Given the description of an element on the screen output the (x, y) to click on. 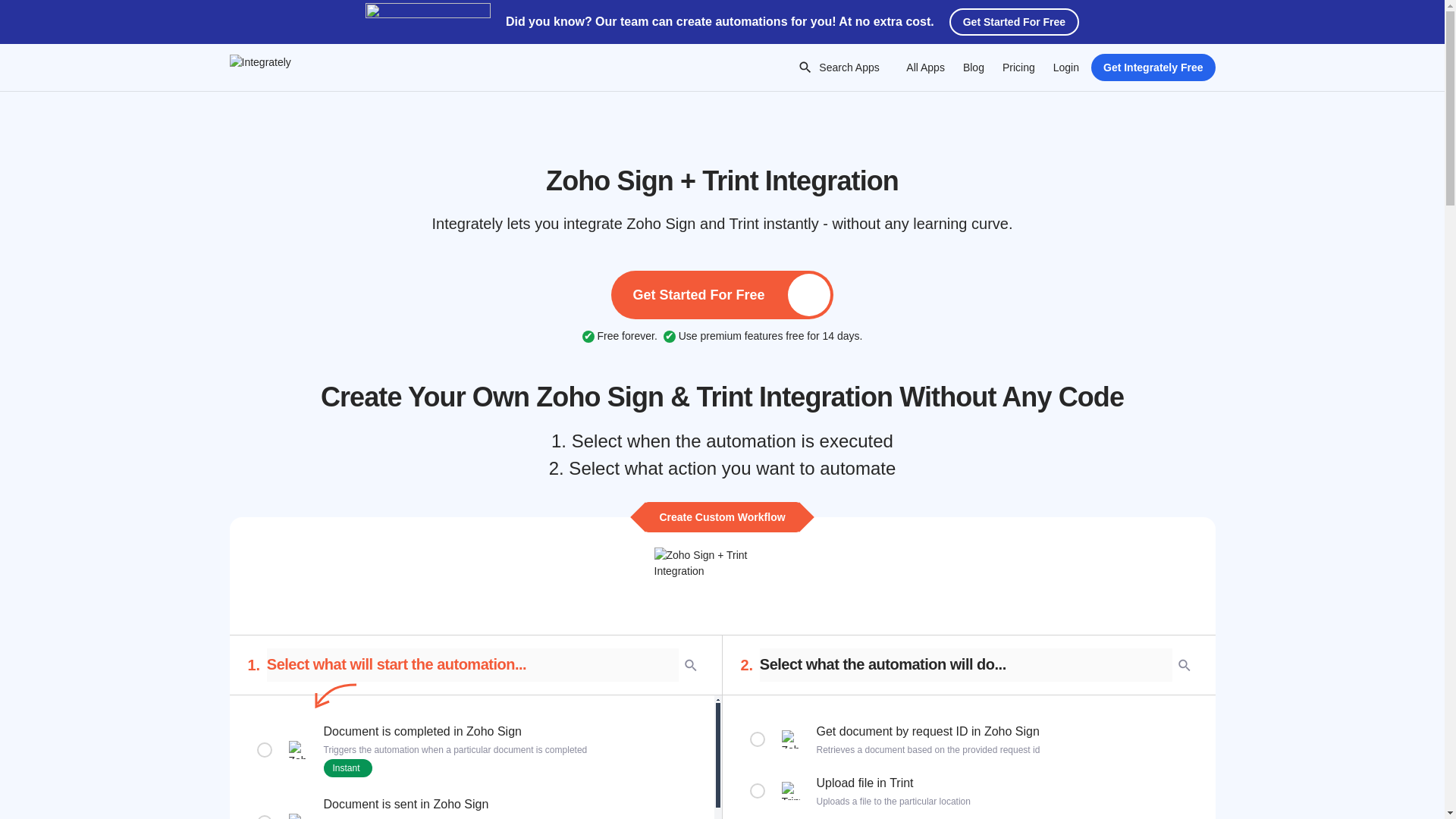
Pricing (1018, 67)
Get Started For Free (1013, 22)
Blog (973, 67)
All Apps (924, 67)
Get Integrately Free (1152, 67)
Get Started For Free (721, 295)
Login (1065, 67)
